Given the description of an element on the screen output the (x, y) to click on. 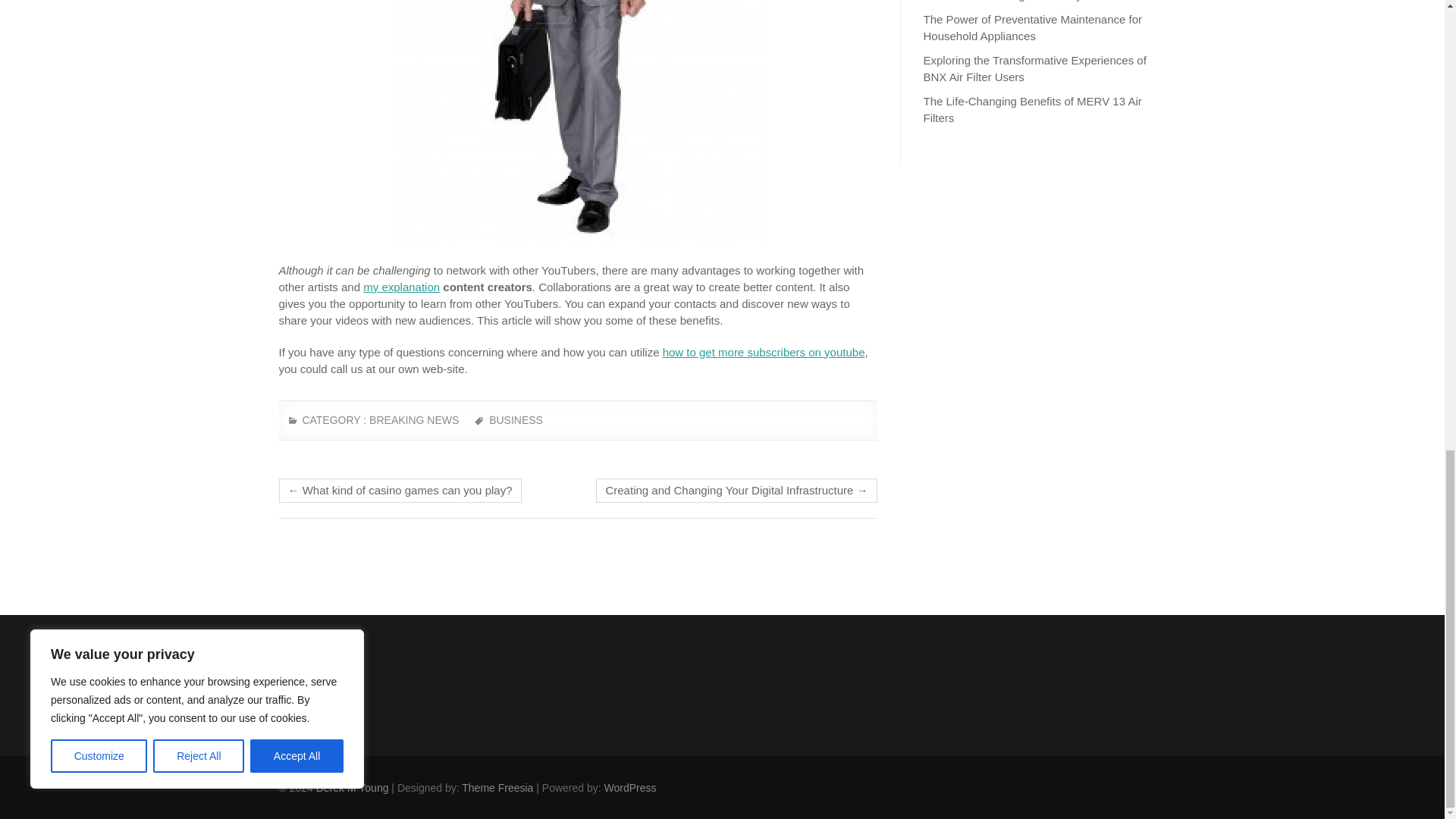
how to get more subscribers on youtube (763, 351)
Derek M Young (351, 787)
BUSINESS (516, 425)
Themefreesia (496, 787)
WordPress (630, 787)
BREAKING NEWS (413, 425)
my explanation (400, 286)
